Given the description of an element on the screen output the (x, y) to click on. 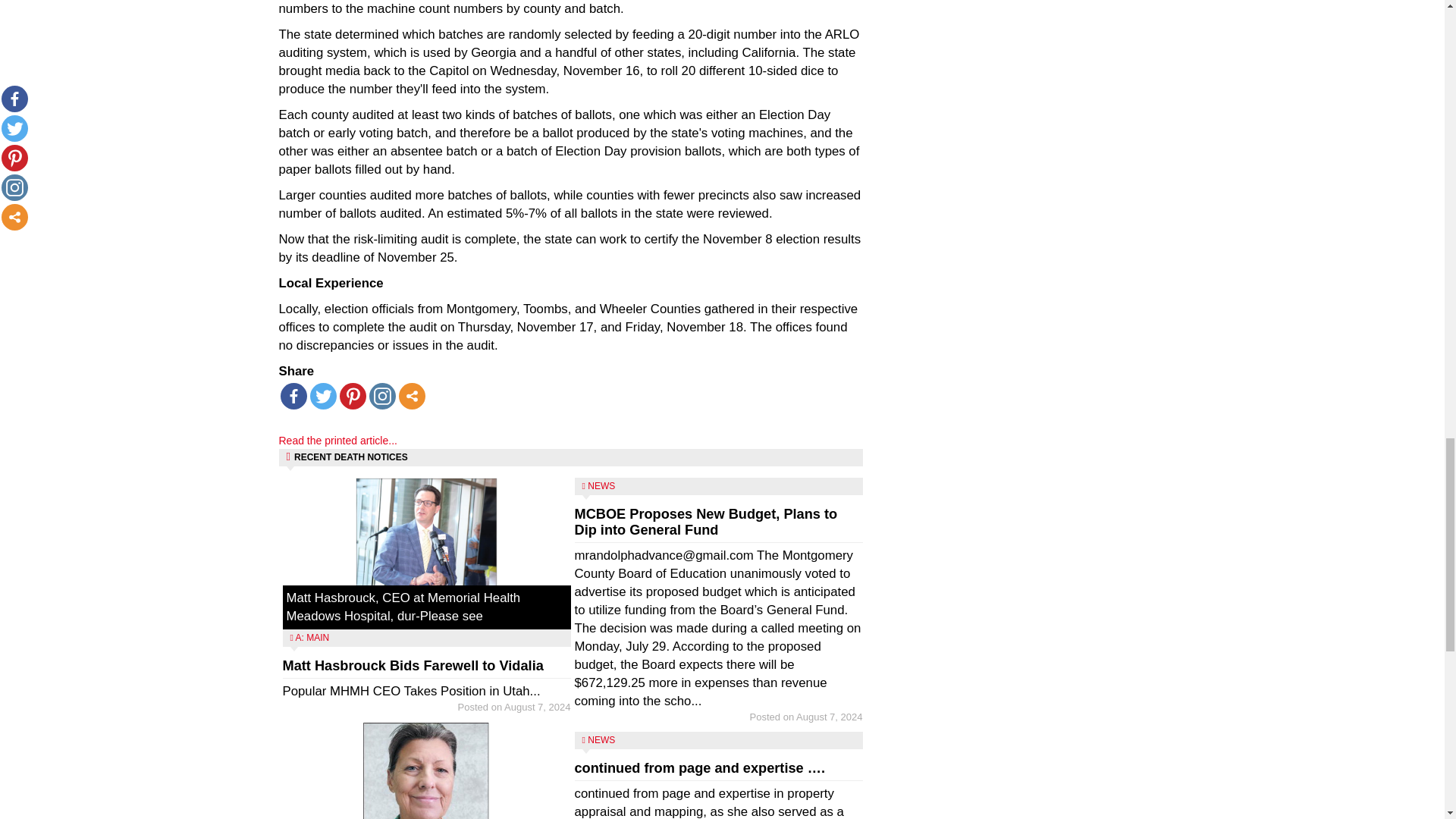
More (411, 396)
Matt Hasbrouck Bids Farewell to Vidalia (412, 665)
Facebook (294, 396)
Read the printed article... (338, 440)
A: MAIN (312, 637)
Twitter (322, 396)
Pinterest (352, 396)
Instagram (381, 396)
